Given the description of an element on the screen output the (x, y) to click on. 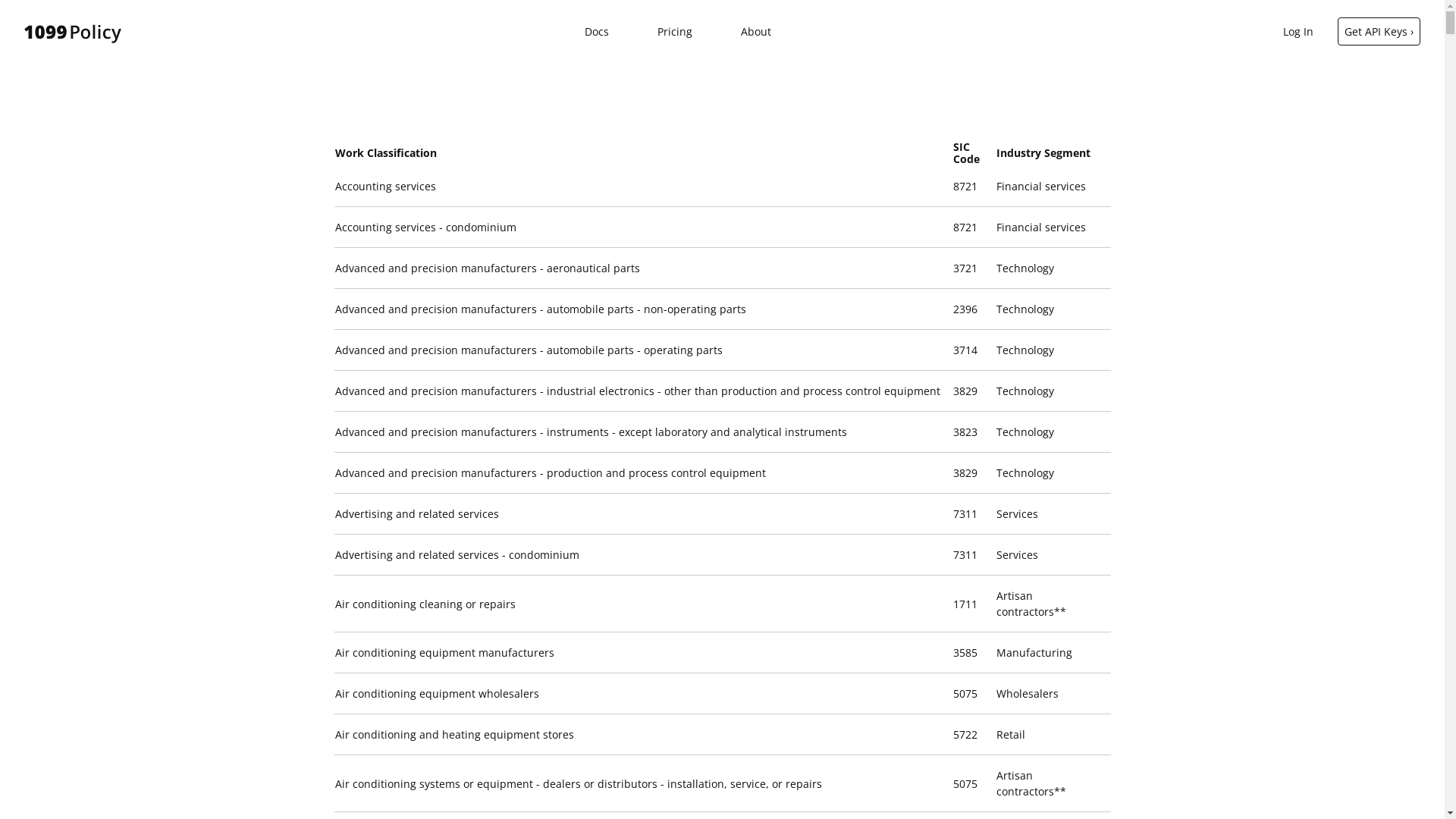
Docs Element type: text (596, 31)
About Element type: text (755, 31)
Log In Element type: text (1298, 31)
Pricing Element type: text (674, 31)
